Given the description of an element on the screen output the (x, y) to click on. 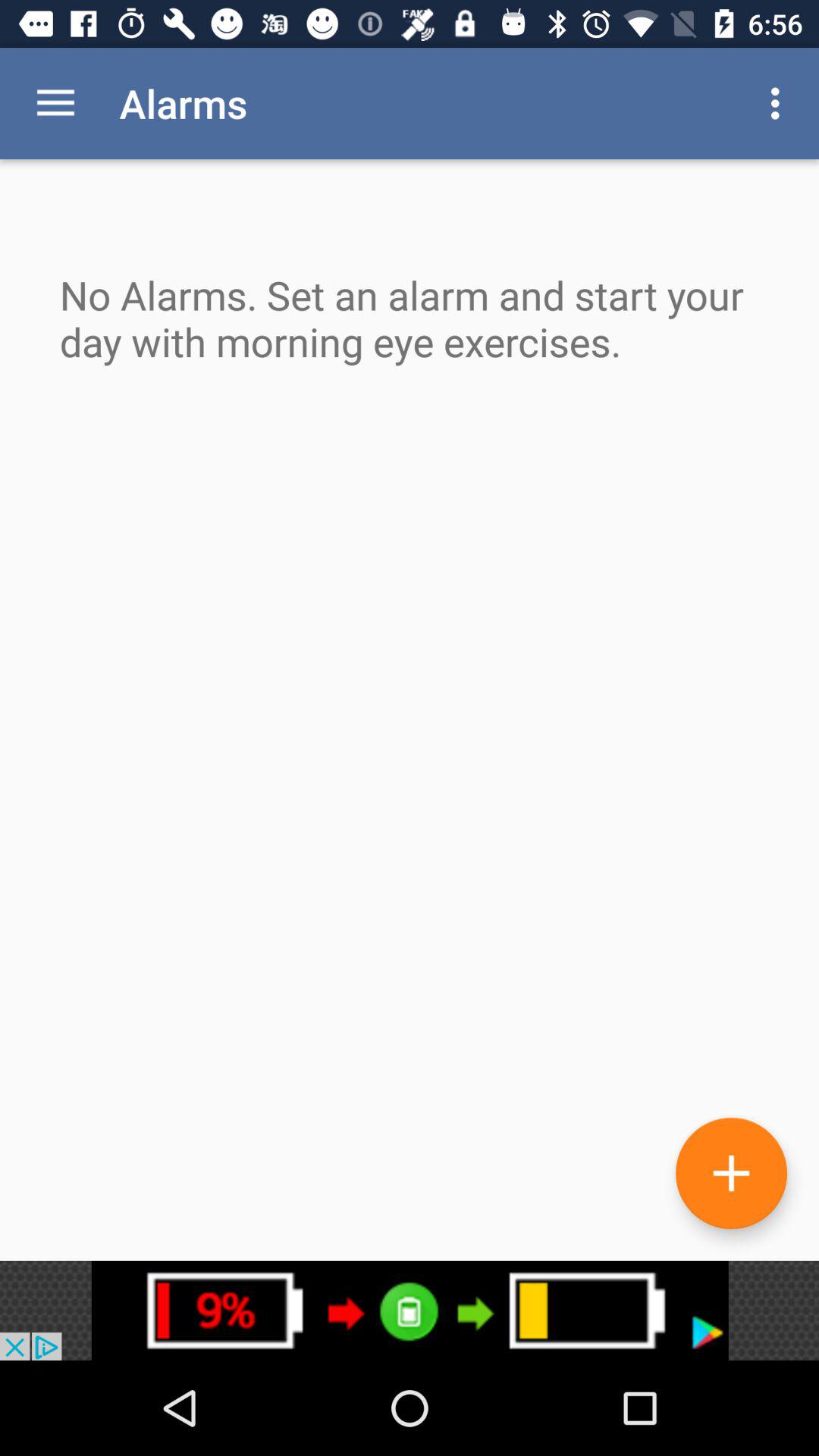
link to advertisement (409, 1310)
